Given the description of an element on the screen output the (x, y) to click on. 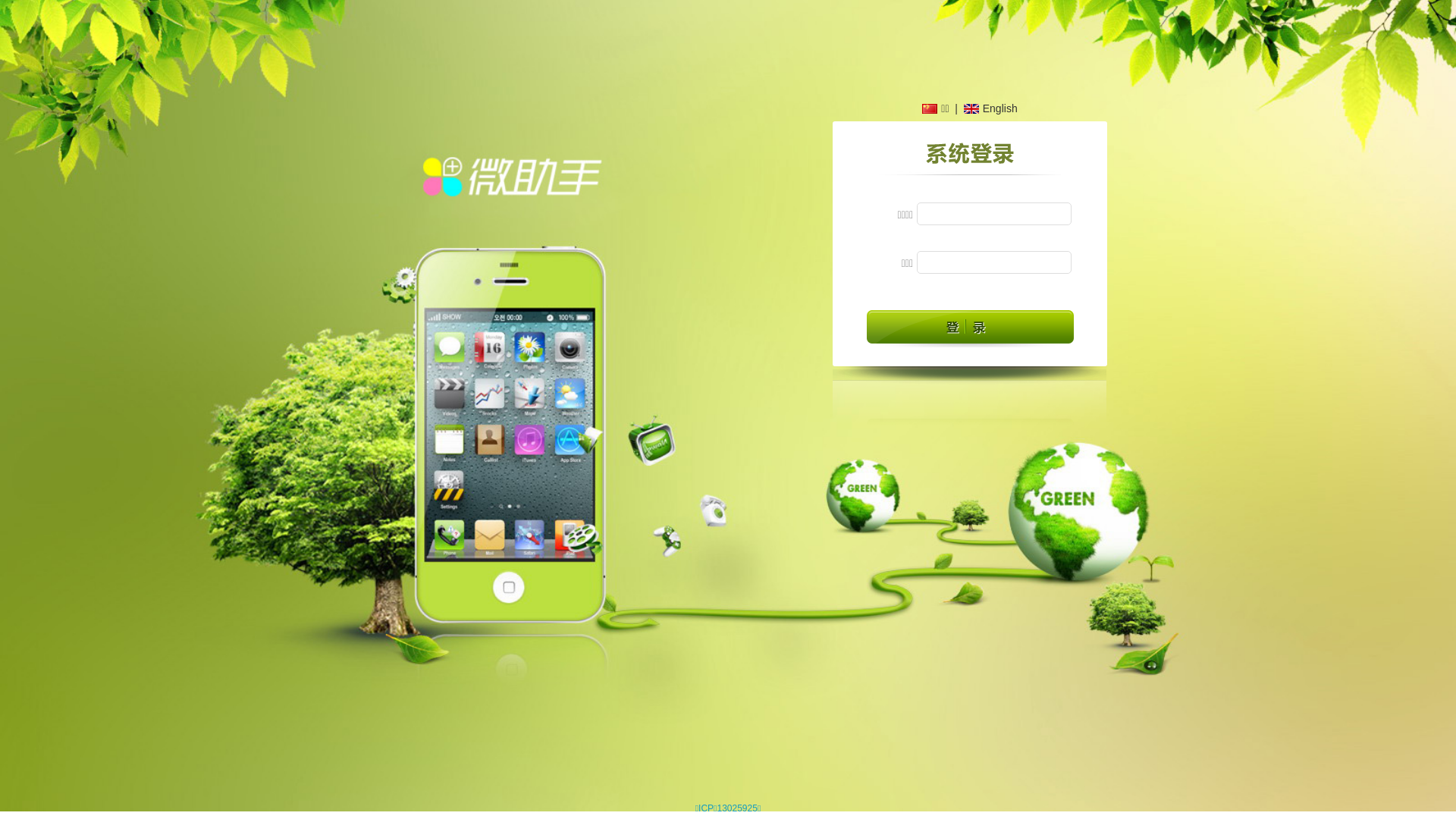
English Element type: text (990, 108)
